Given the description of an element on the screen output the (x, y) to click on. 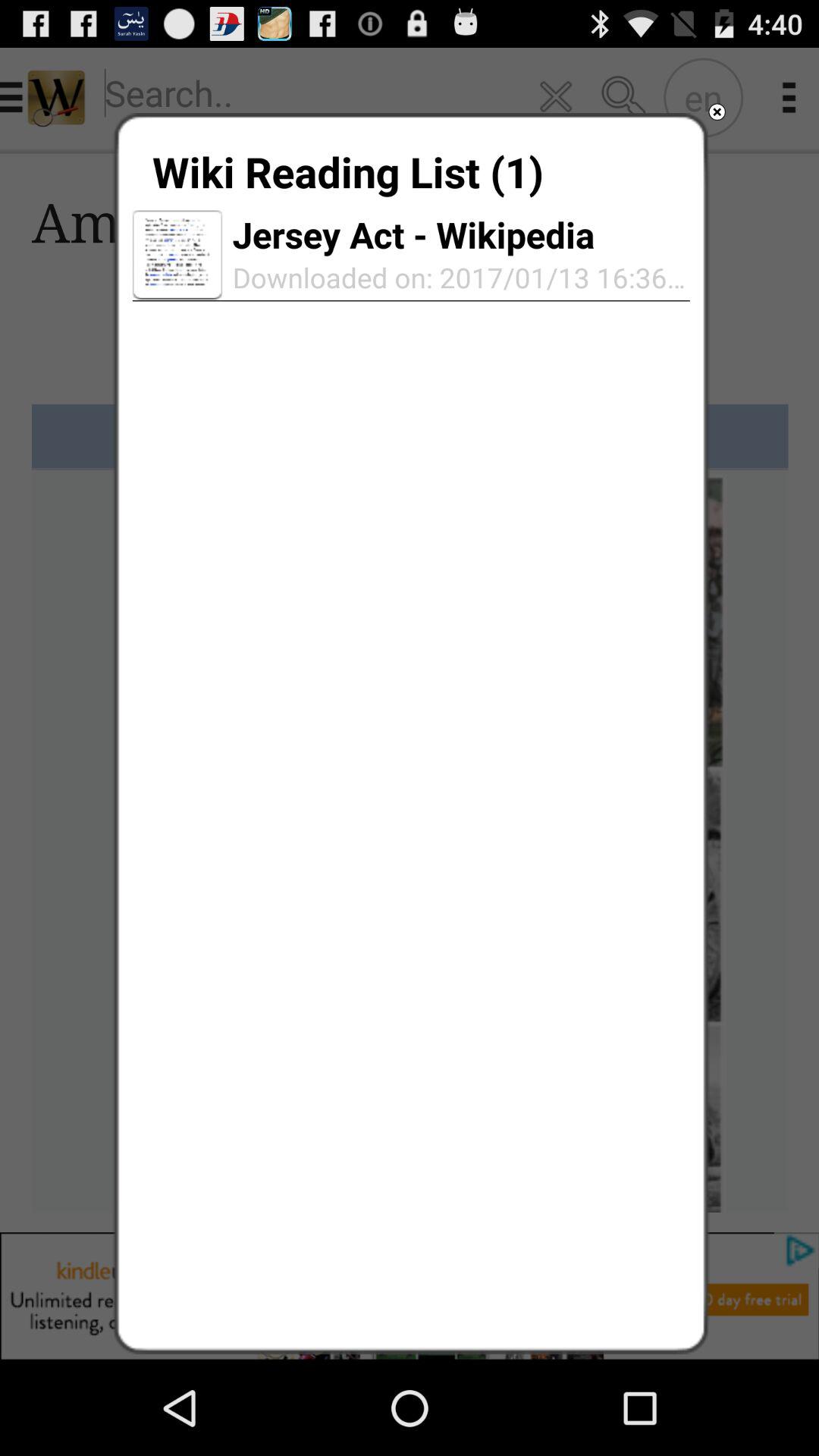
jump until downloaded on 2017 (455, 277)
